Given the description of an element on the screen output the (x, y) to click on. 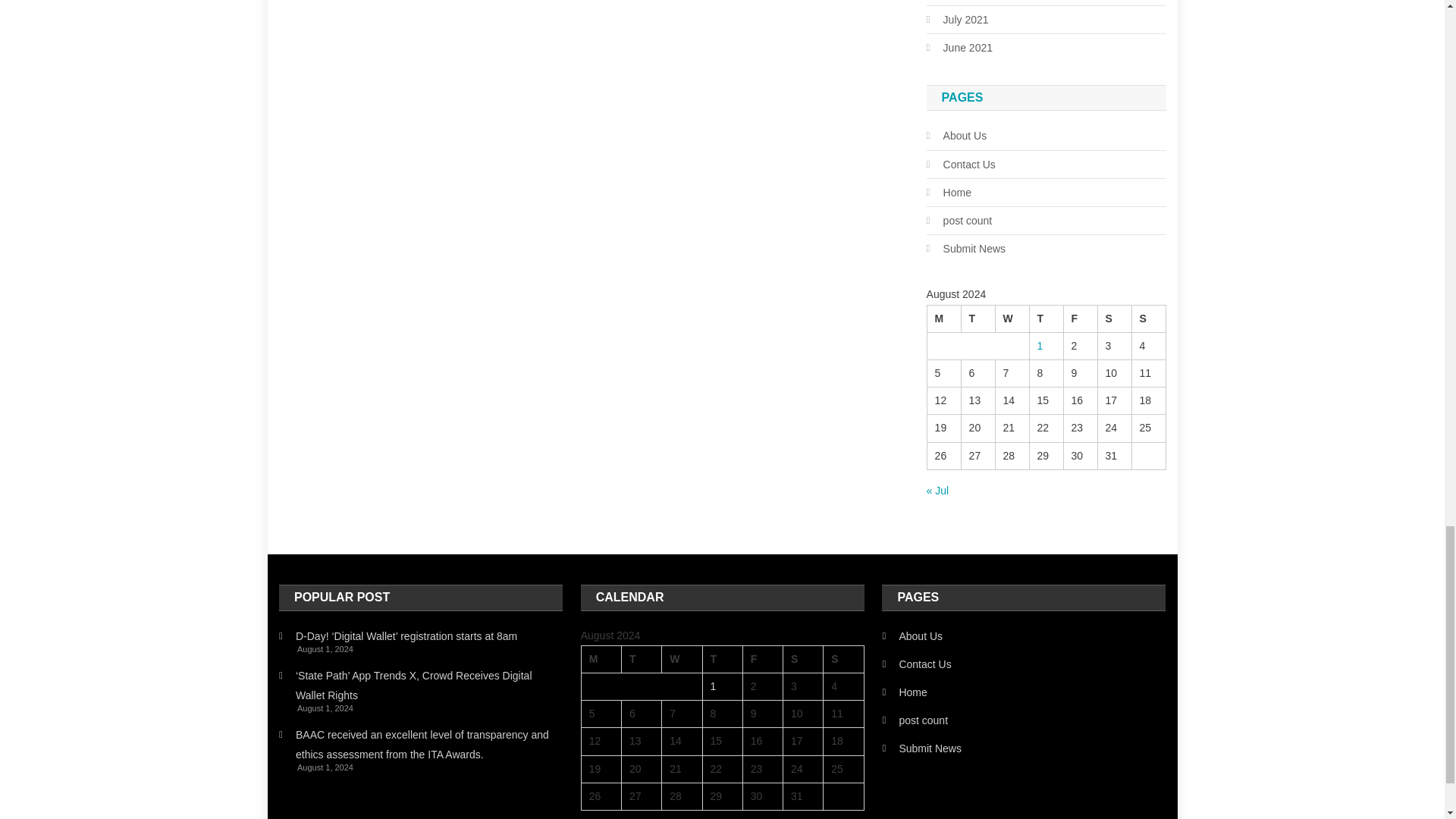
Tuesday (641, 658)
Sunday (843, 658)
Friday (1079, 318)
Wednesday (1011, 318)
Wednesday (681, 658)
Saturday (803, 658)
Sunday (1148, 318)
Saturday (1114, 318)
Tuesday (977, 318)
Monday (943, 318)
Monday (600, 658)
Friday (762, 658)
Thursday (1045, 318)
Thursday (721, 658)
